Given the description of an element on the screen output the (x, y) to click on. 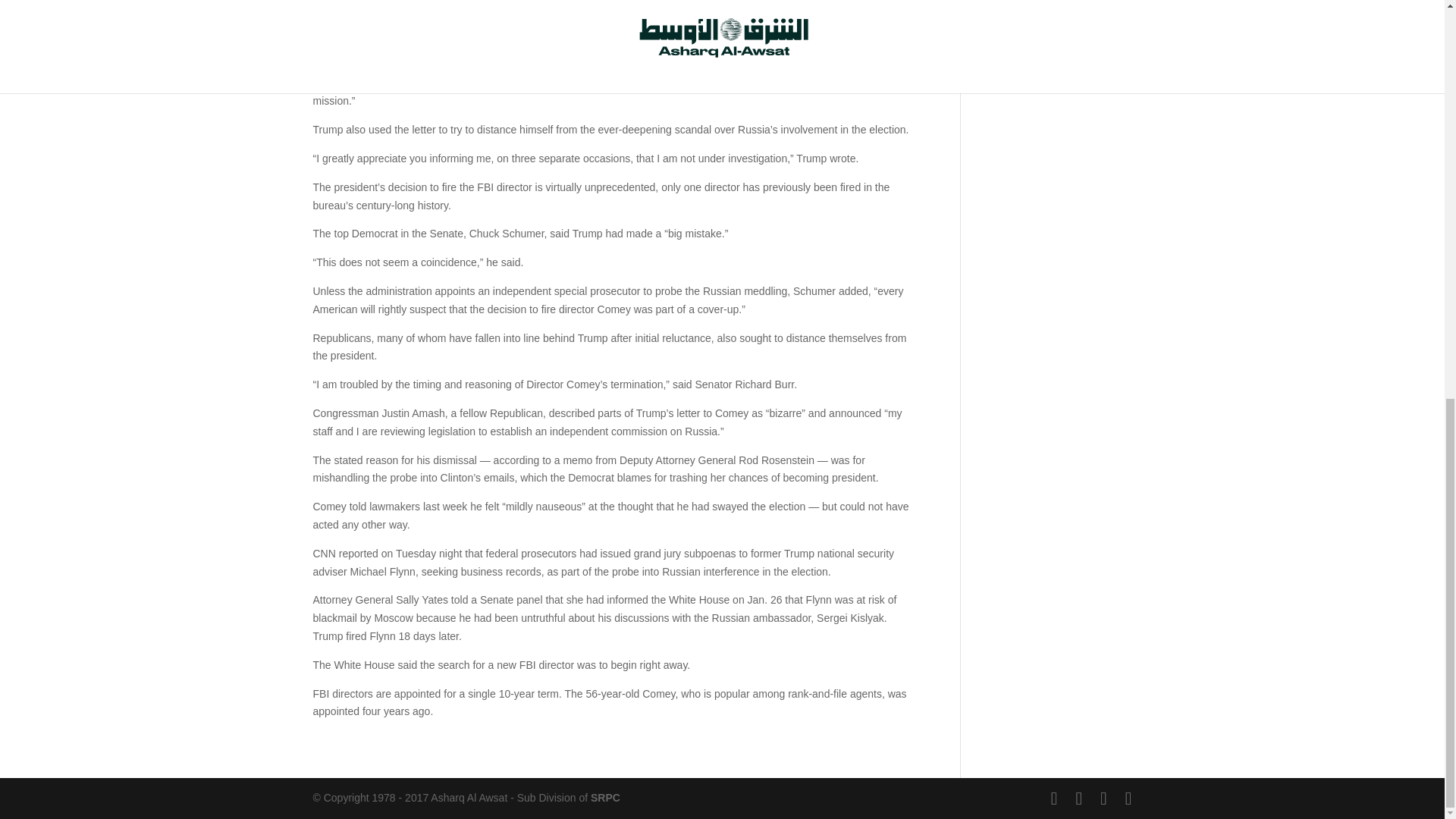
SRPC (605, 797)
